Given the description of an element on the screen output the (x, y) to click on. 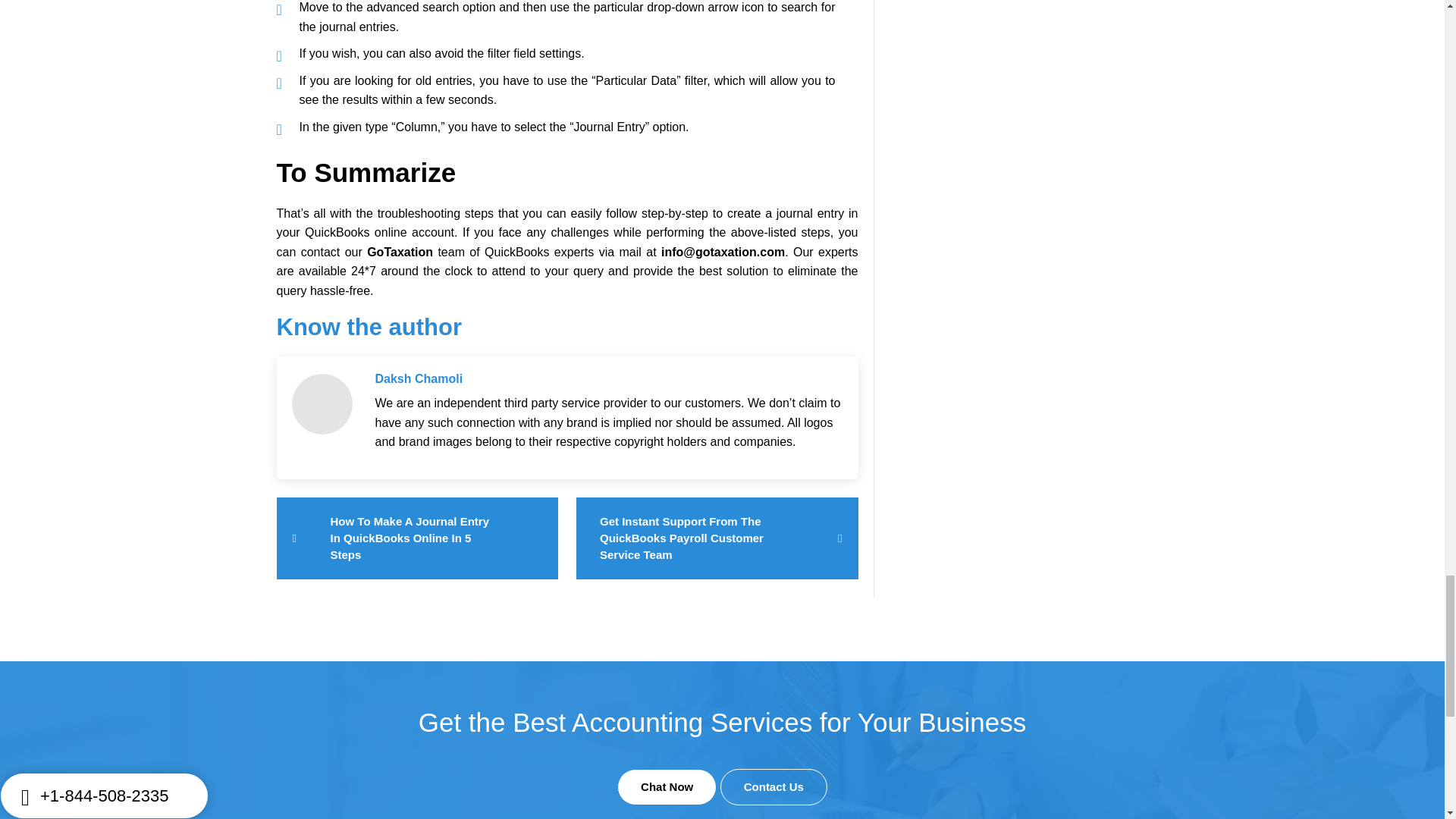
GoTaxation (399, 251)
How To Make A Journal Entry In QuickBooks Online In 5 Steps (416, 538)
